Given the description of an element on the screen output the (x, y) to click on. 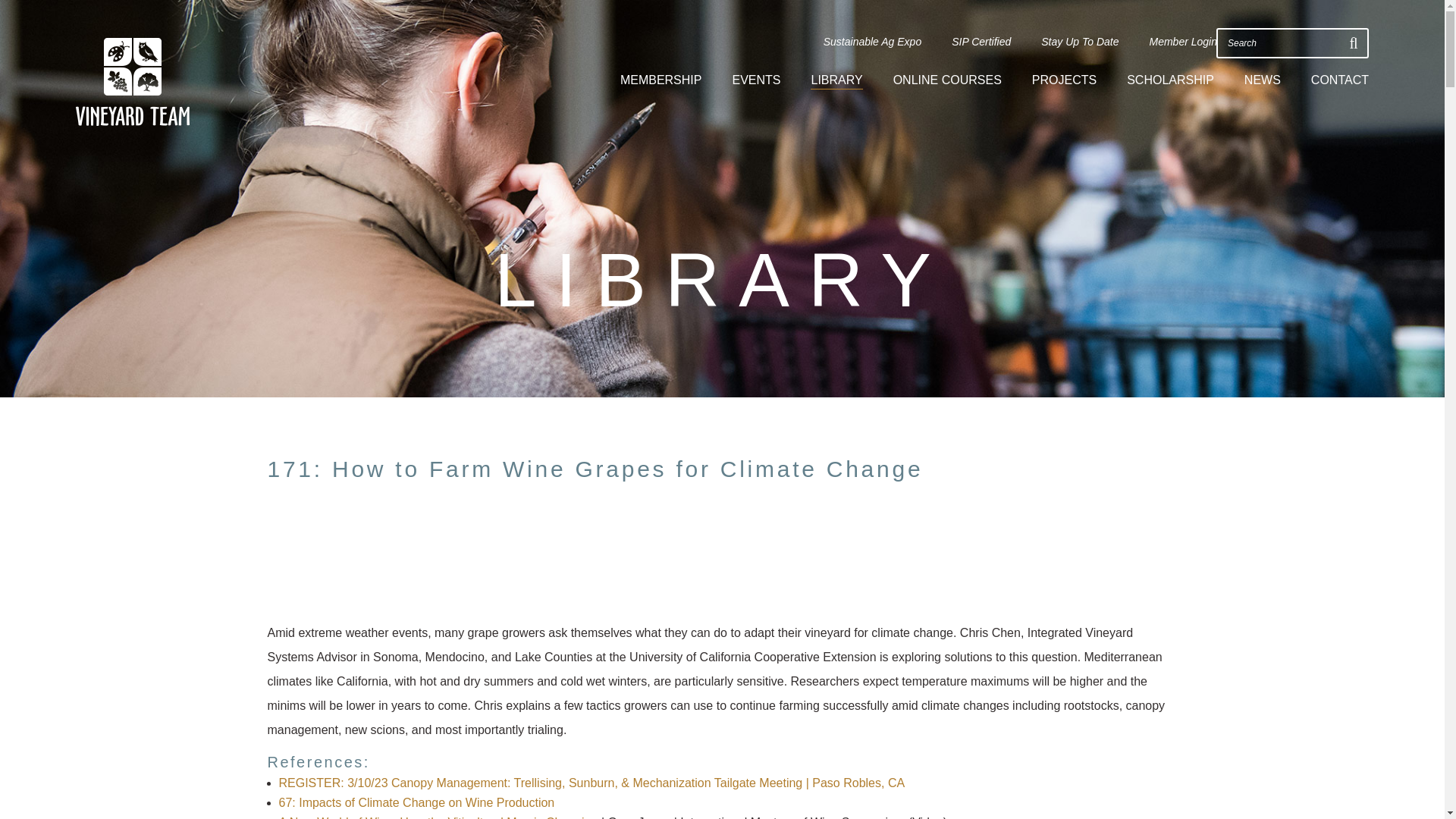
LIBRARY (835, 81)
SIP Certified (981, 42)
67: Impacts of Climate Change on Wine Production (416, 802)
Embed Player (721, 551)
Member Login (1183, 42)
ONLINE COURSES (947, 80)
SCHOLARSHIP (1170, 80)
CONTACT (1339, 80)
PROJECTS (1064, 80)
MEMBERSHIP (660, 80)
NEWS (1262, 80)
Sustainable Ag Expo (872, 42)
EVENTS (756, 80)
Search (1282, 42)
